Given the description of an element on the screen output the (x, y) to click on. 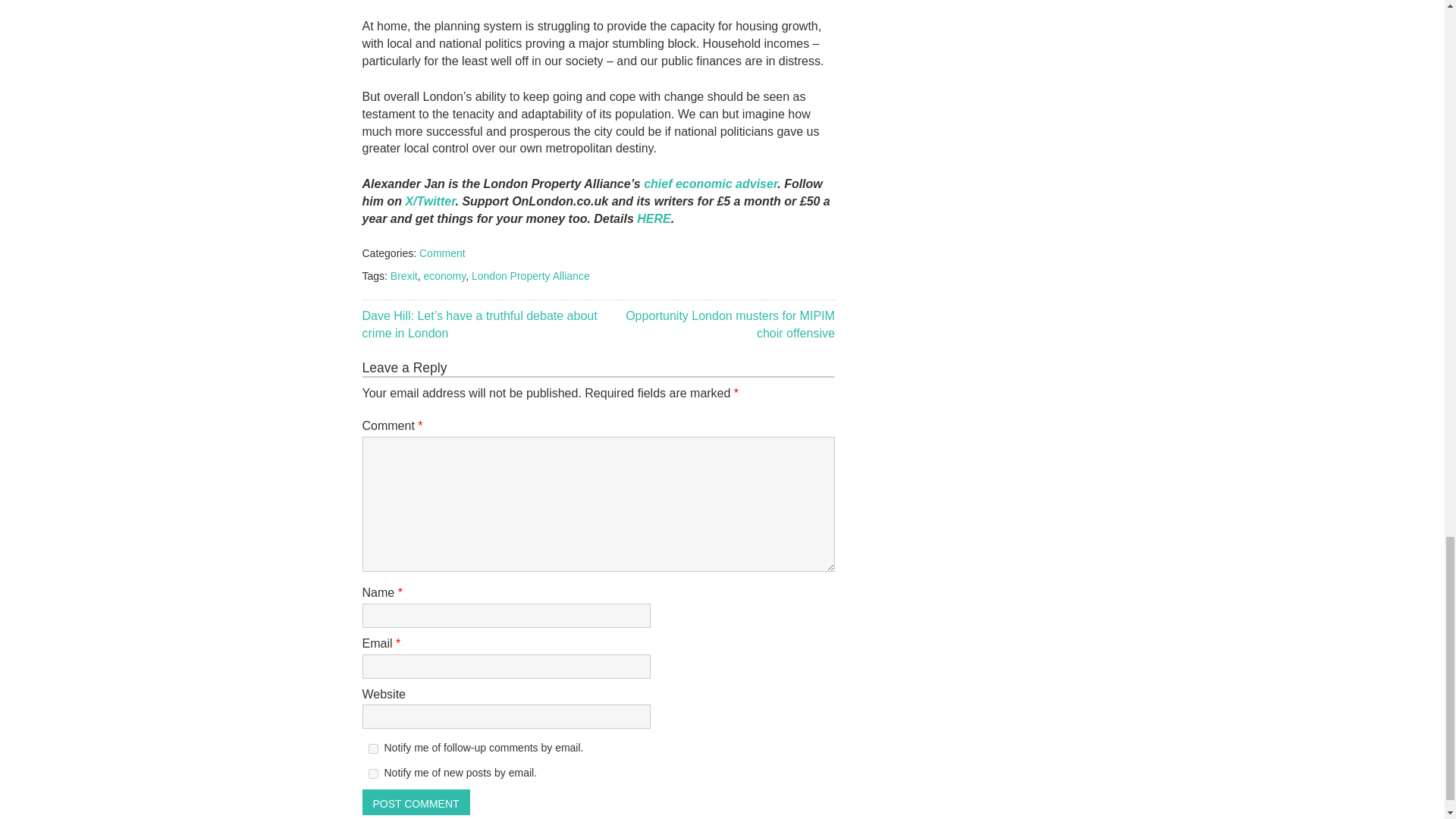
subscribe (373, 773)
subscribe (373, 748)
chief economic adviser (710, 183)
Post Comment (416, 801)
